Given the description of an element on the screen output the (x, y) to click on. 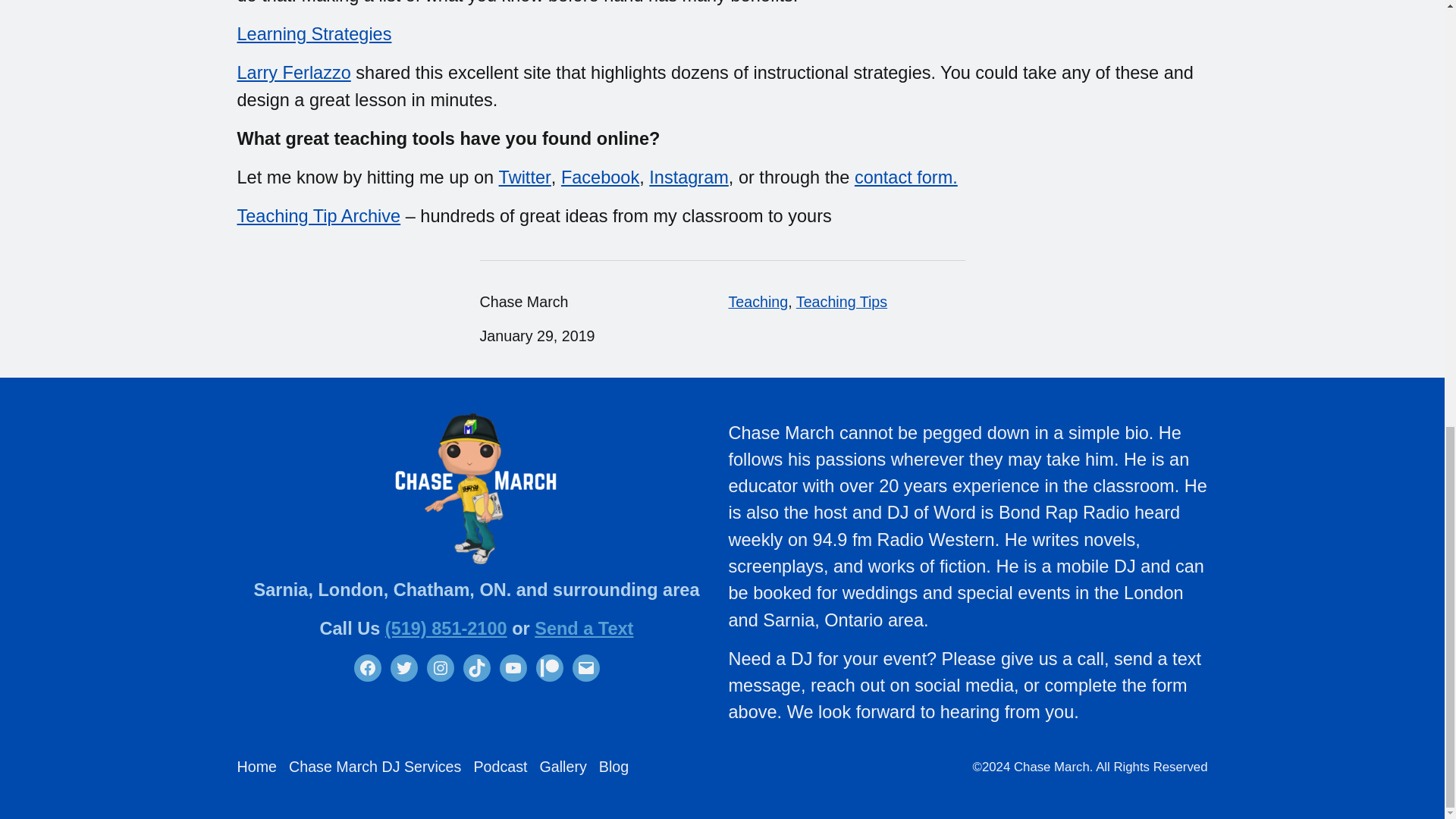
Twitter (403, 667)
Podcast (500, 766)
Twitter (525, 177)
Facebook (366, 667)
Teaching Tips (841, 301)
YouTube (512, 667)
Instagram (689, 177)
Teaching (757, 301)
Facebook (599, 177)
Blog (613, 766)
contact form. (906, 177)
Mail (585, 667)
Instagram (439, 667)
Home (255, 766)
Send a Text (583, 628)
